Given the description of an element on the screen output the (x, y) to click on. 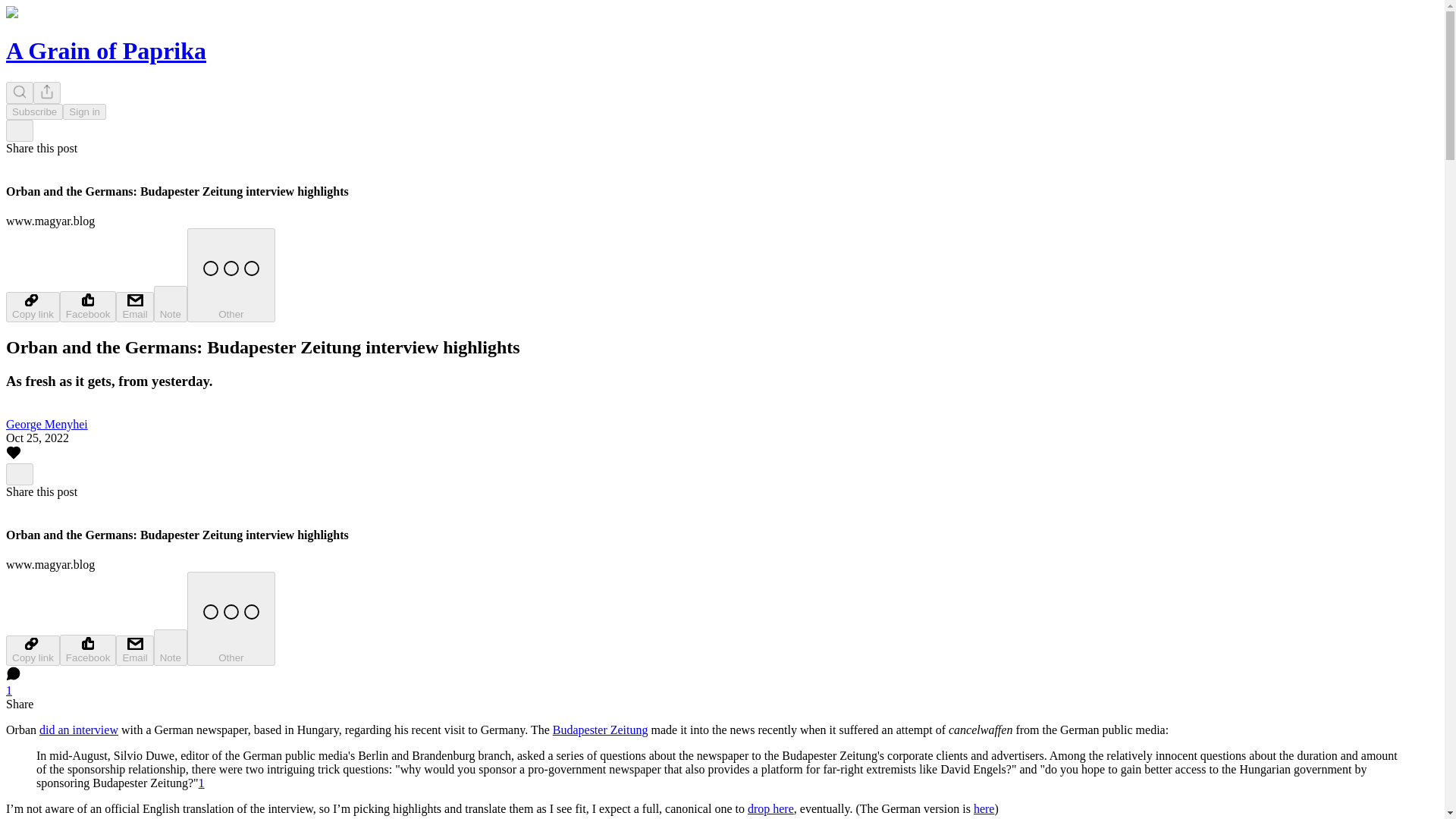
Subscribe (33, 111)
Copy link (32, 306)
Note (170, 647)
Email (134, 650)
here (984, 808)
Copy link (32, 650)
Other (231, 275)
George Menyhei (46, 423)
Facebook (87, 649)
drop here (770, 808)
